Given the description of an element on the screen output the (x, y) to click on. 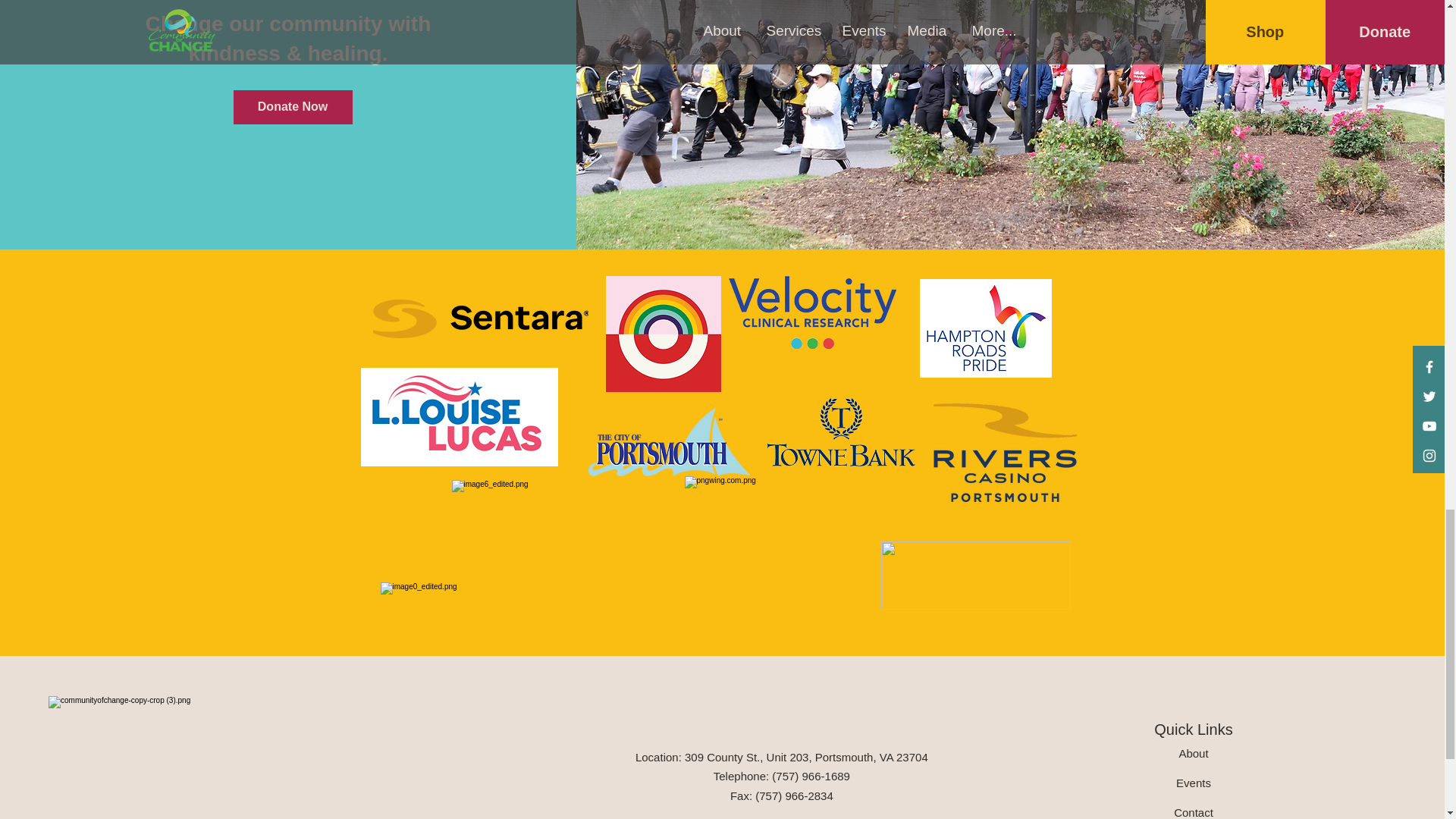
image4.jpeg (841, 432)
image1.png (811, 312)
Events (1193, 782)
image0.jpeg (514, 610)
image7.png (975, 575)
Contact (1192, 812)
image6.jpeg (550, 528)
About (1192, 753)
image3.png (1004, 452)
hampton roads pride.png (984, 328)
